Given the description of an element on the screen output the (x, y) to click on. 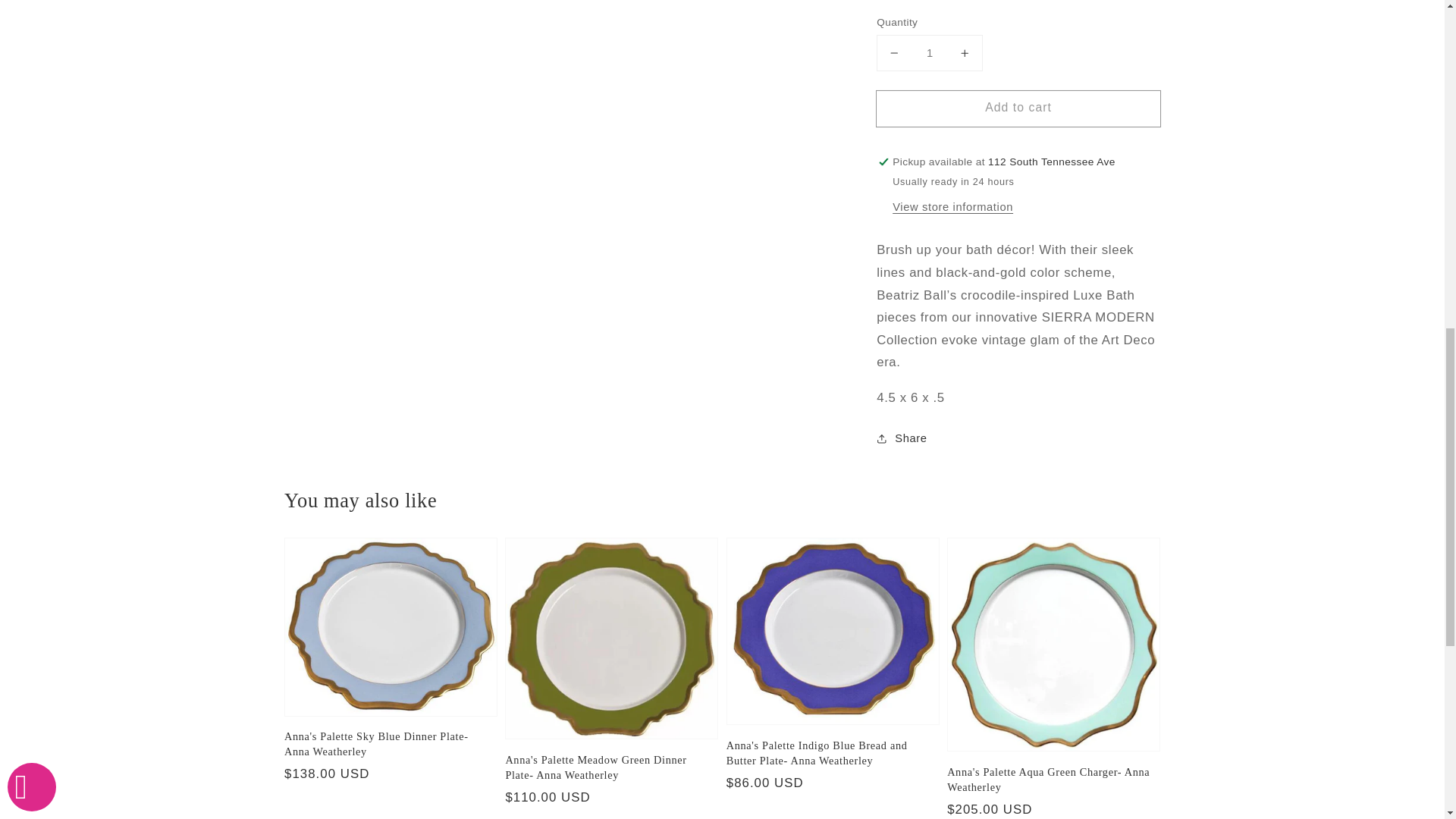
1 (929, 40)
